Given the description of an element on the screen output the (x, y) to click on. 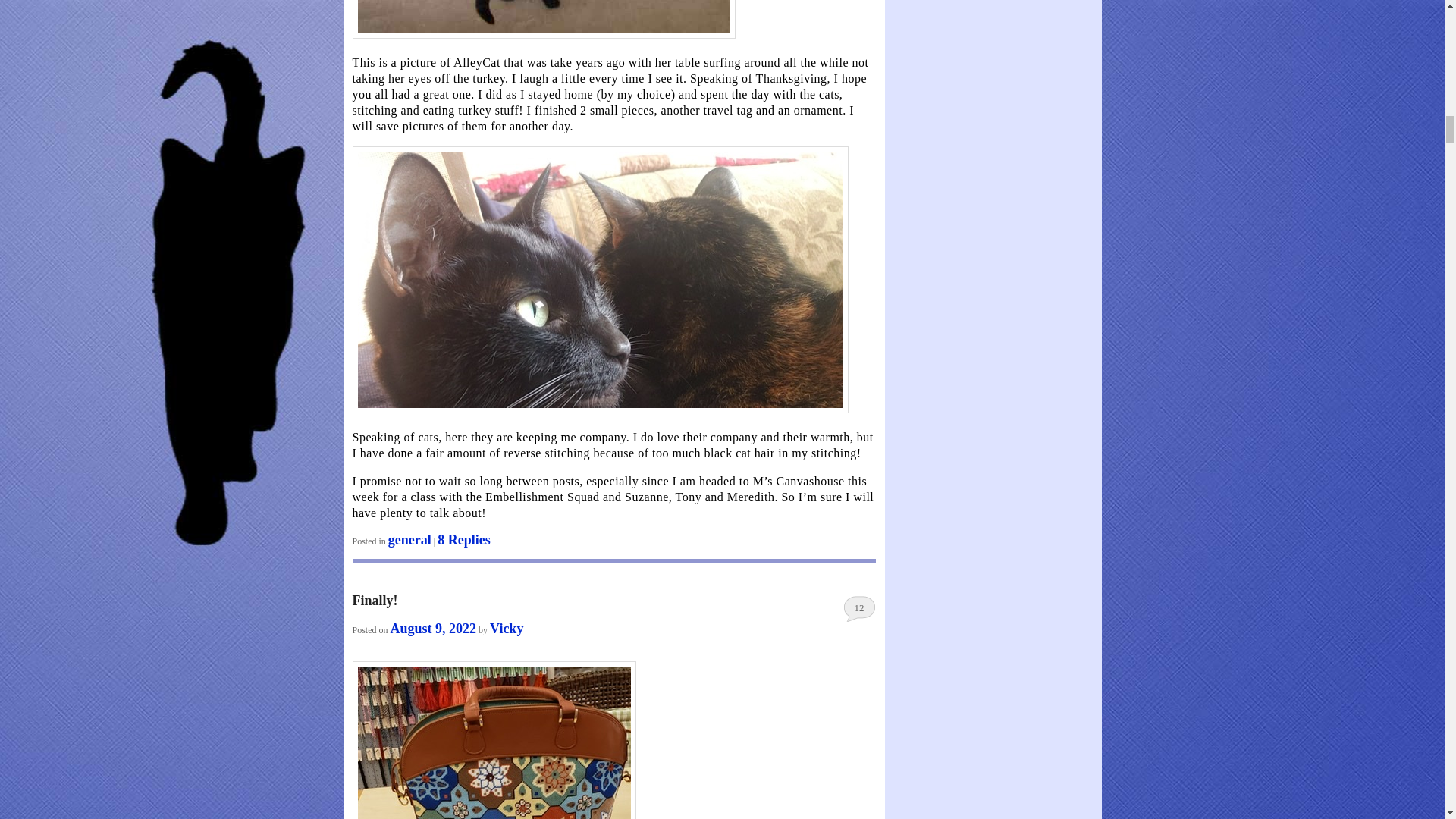
Finally! (374, 600)
general (409, 539)
8 Replies (464, 539)
9:12 pm (433, 628)
Vicky (505, 628)
View all posts by Vicky (505, 628)
August 9, 2022 (433, 628)
12 (859, 607)
